Given the description of an element on the screen output the (x, y) to click on. 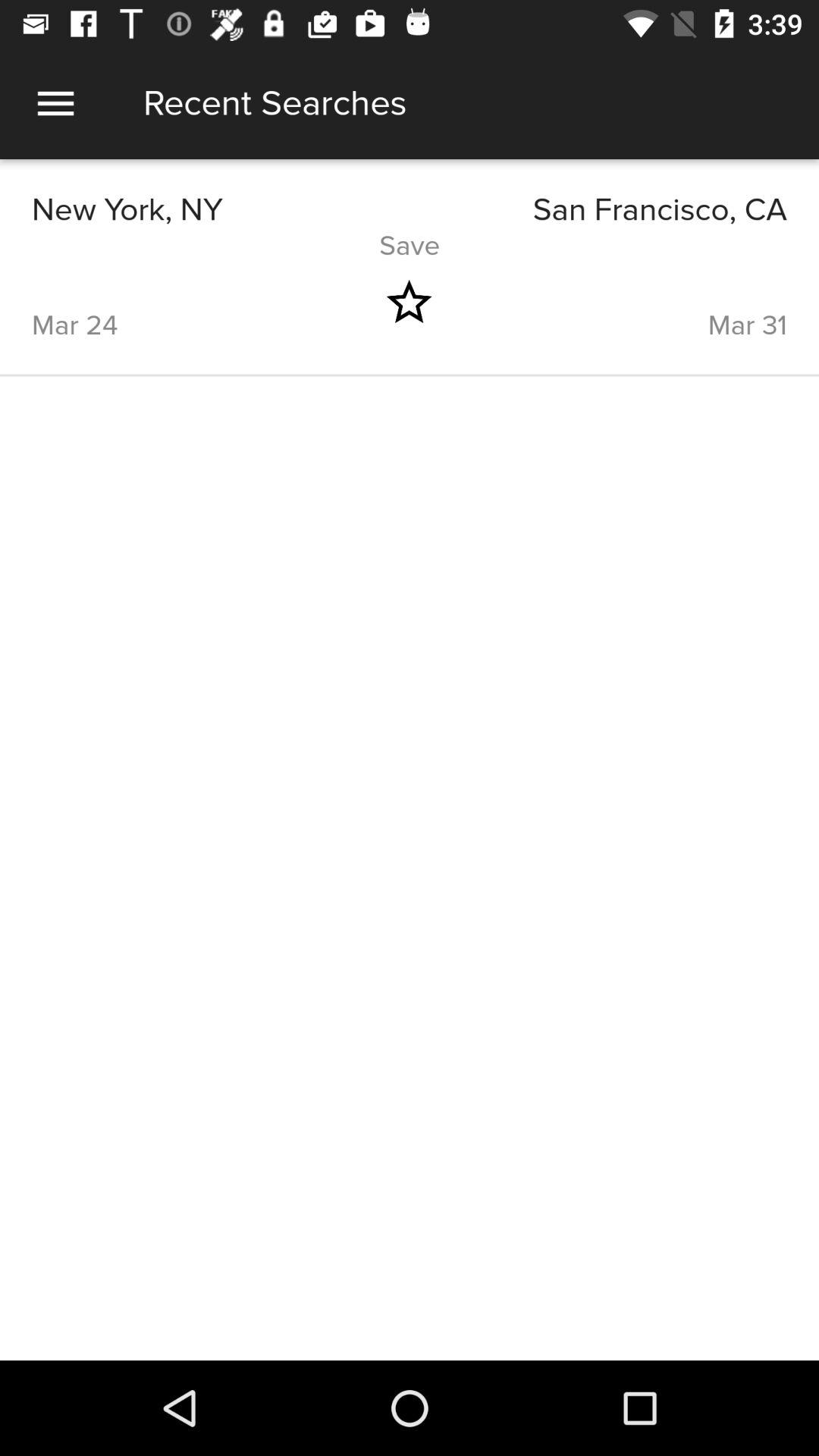
jump until the mar 24 item (182, 302)
